Given the description of an element on the screen output the (x, y) to click on. 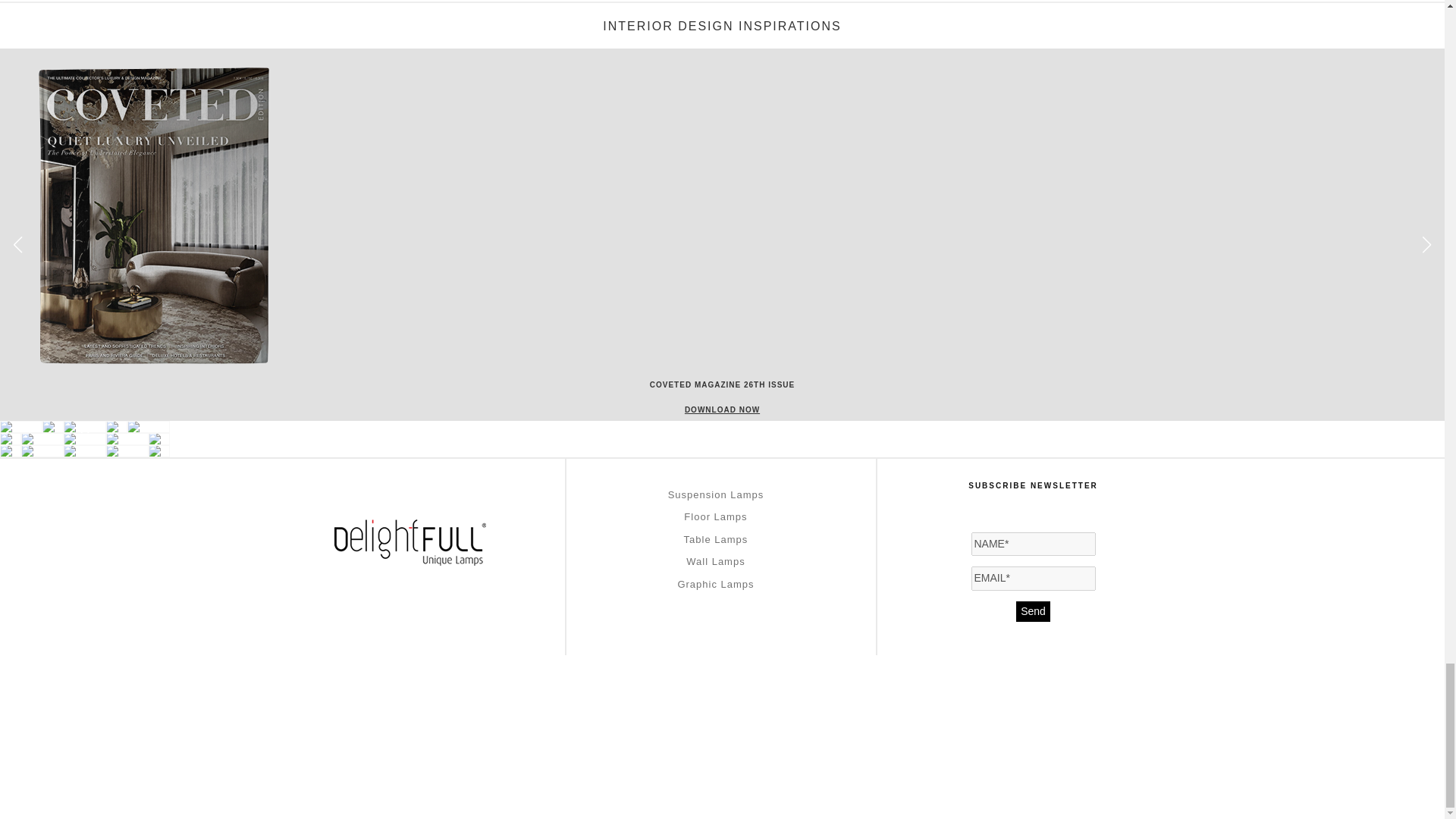
Send (1032, 611)
